Given the description of an element on the screen output the (x, y) to click on. 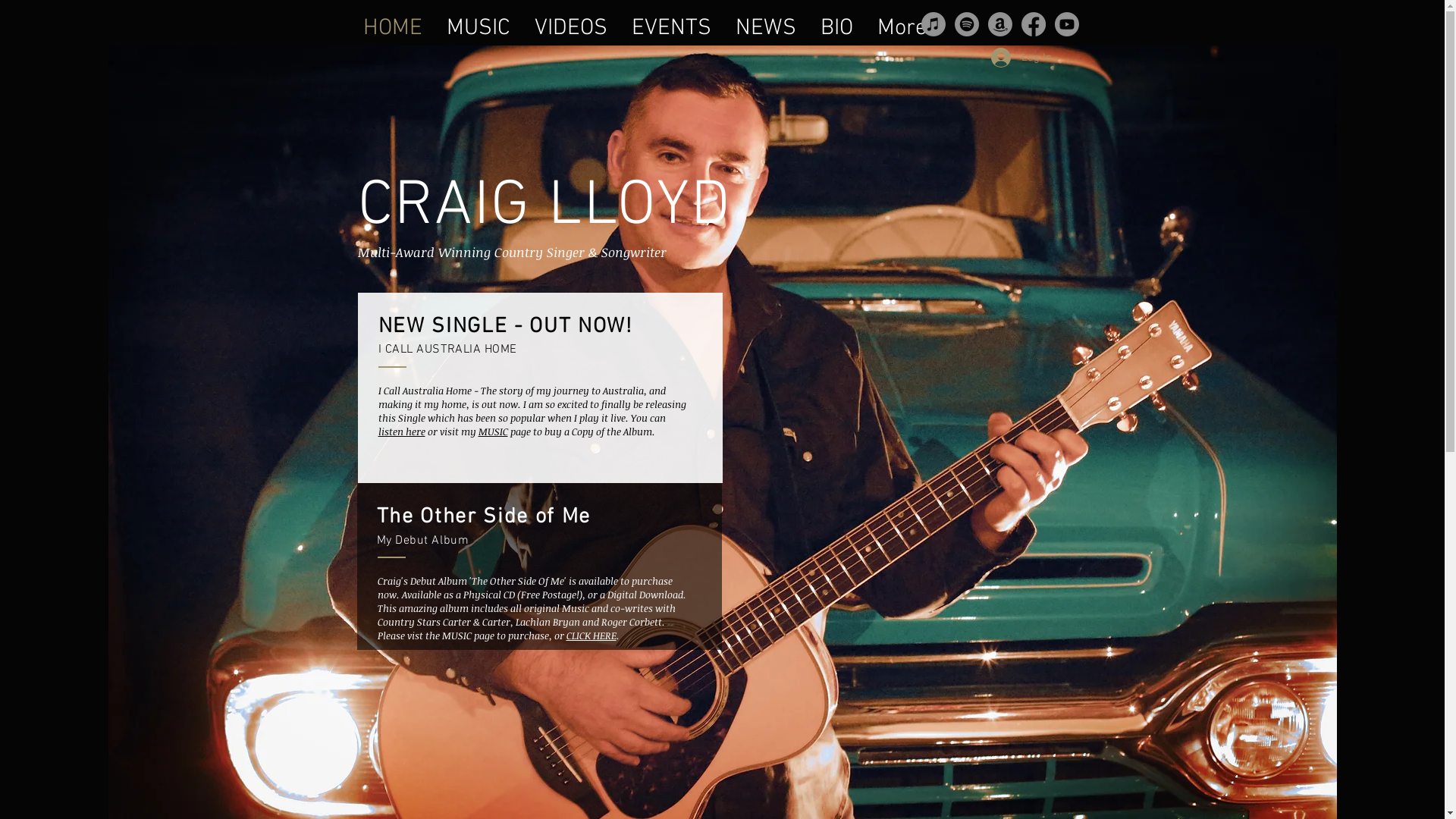
CLICK HERE Element type: text (590, 635)
NEW SINGLE - OUT NOW! Element type: text (504, 326)
The Other Side of Me Element type: text (483, 517)
Buy Album Element type: hover (871, 501)
EVENTS Element type: text (670, 22)
BIO Element type: text (836, 22)
MUSIC Element type: text (492, 431)
HOME Element type: text (391, 22)
VIDEOS Element type: text (569, 22)
MUSIC Element type: text (477, 22)
listen here Element type: text (400, 431)
NEWS Element type: text (765, 22)
Log In Element type: text (1020, 57)
